Given the description of an element on the screen output the (x, y) to click on. 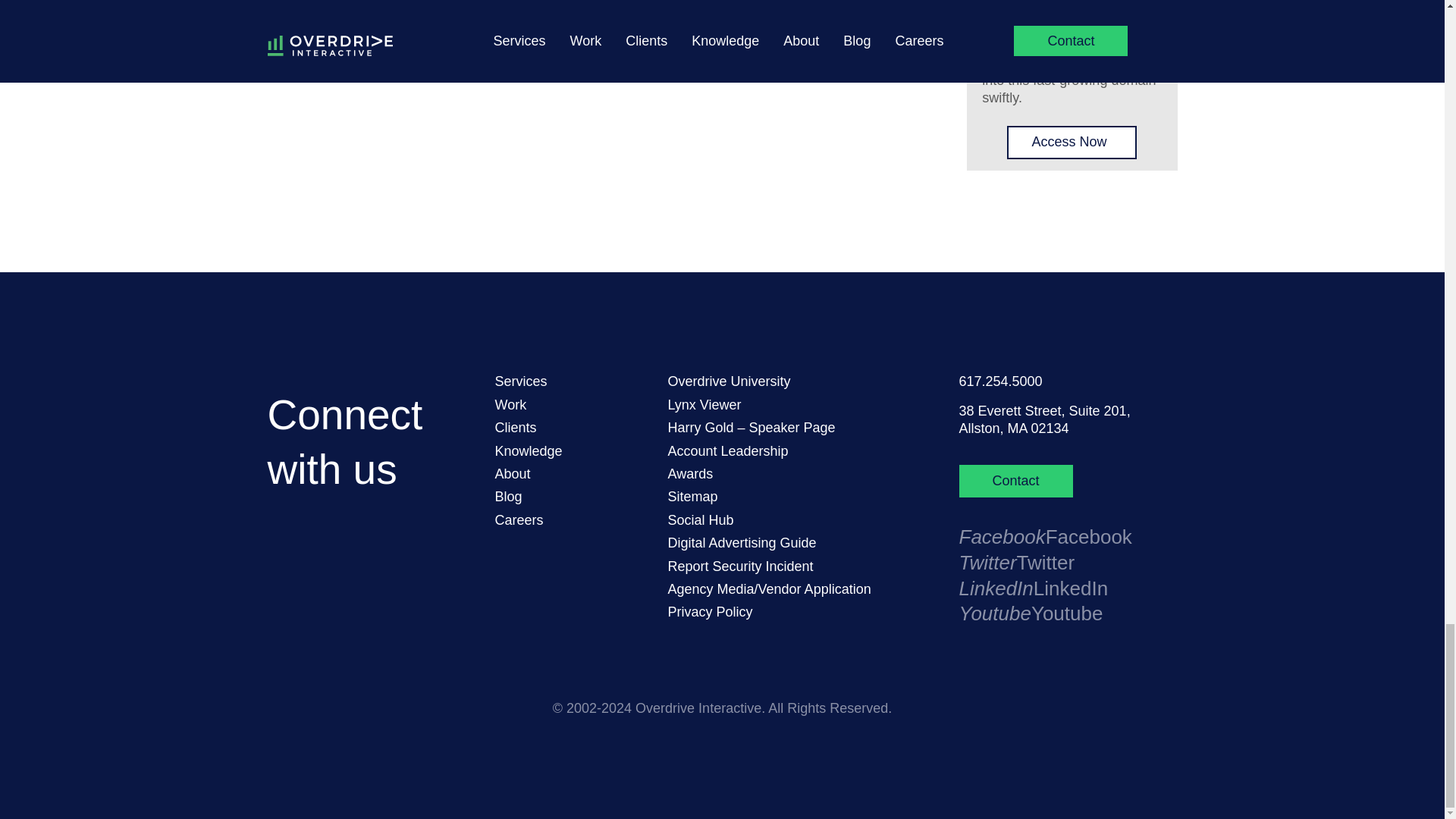
Youtube (994, 612)
Twitter (987, 562)
LinkedIn (995, 588)
Facebook (1001, 536)
